Given the description of an element on the screen output the (x, y) to click on. 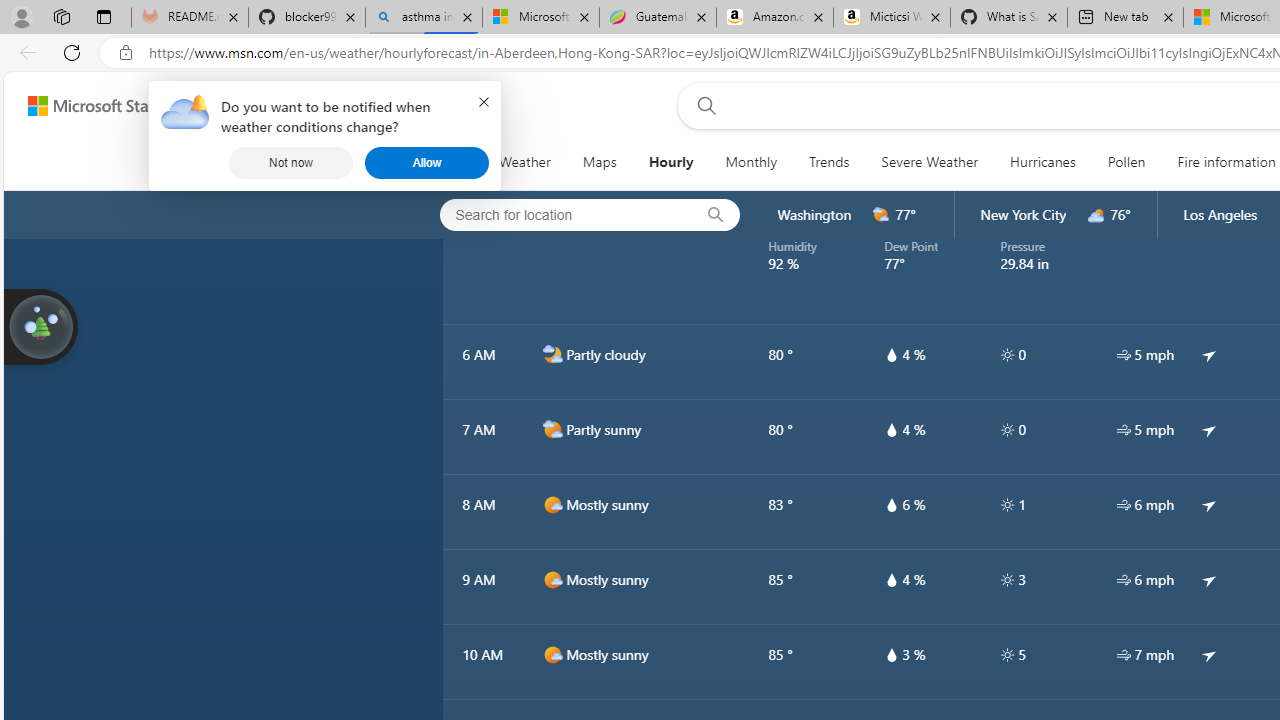
hourlyTable/drop (891, 654)
